Given the description of an element on the screen output the (x, y) to click on. 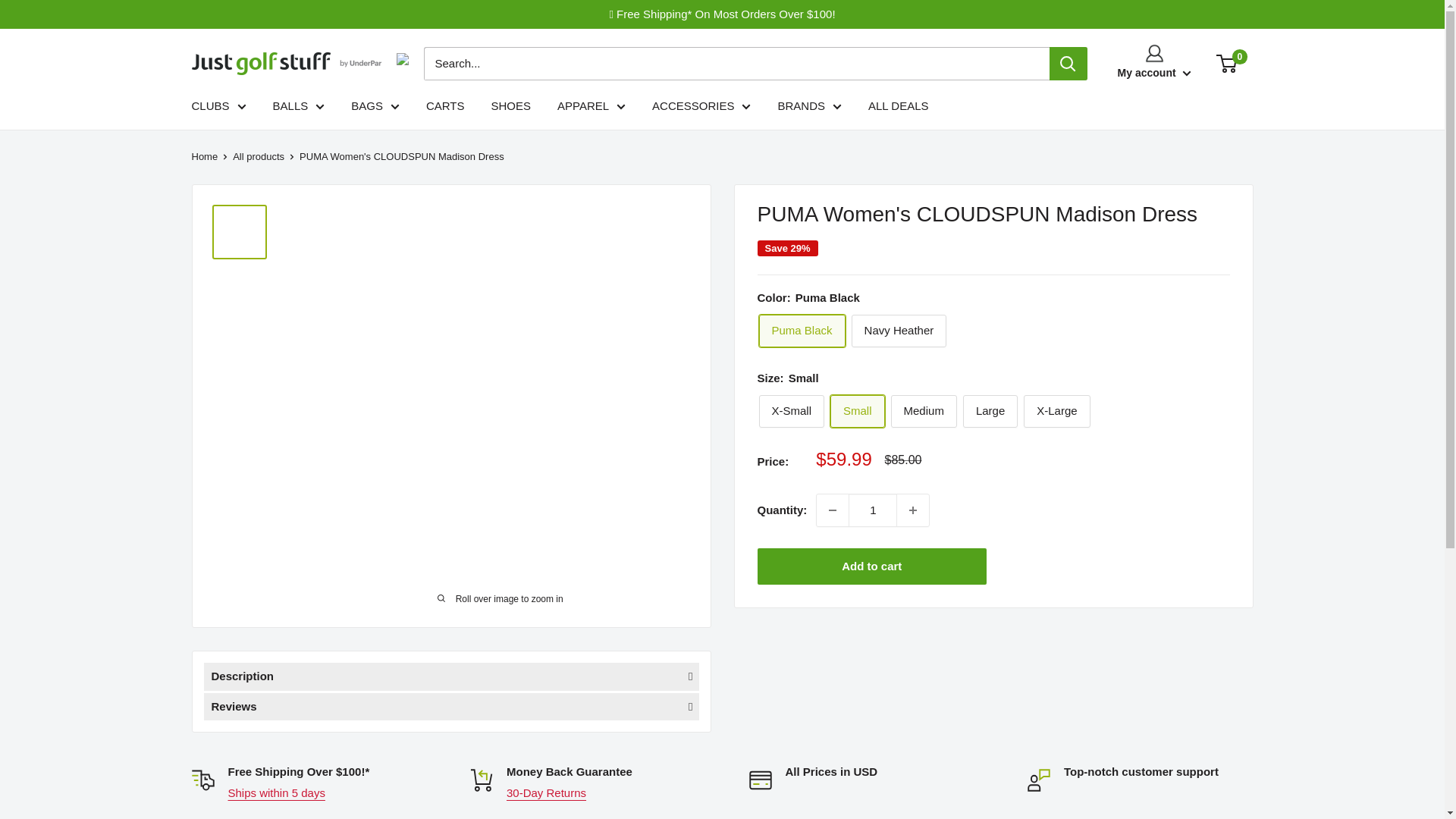
X-Large (1056, 410)
Shipping Policy (275, 792)
1 (872, 510)
Navy Heather (899, 330)
Increase quantity by 1 (912, 510)
Small (857, 410)
Medium (923, 410)
Large (989, 410)
Puma Black (801, 330)
Decrease quantity by 1 (832, 510)
